Given the description of an element on the screen output the (x, y) to click on. 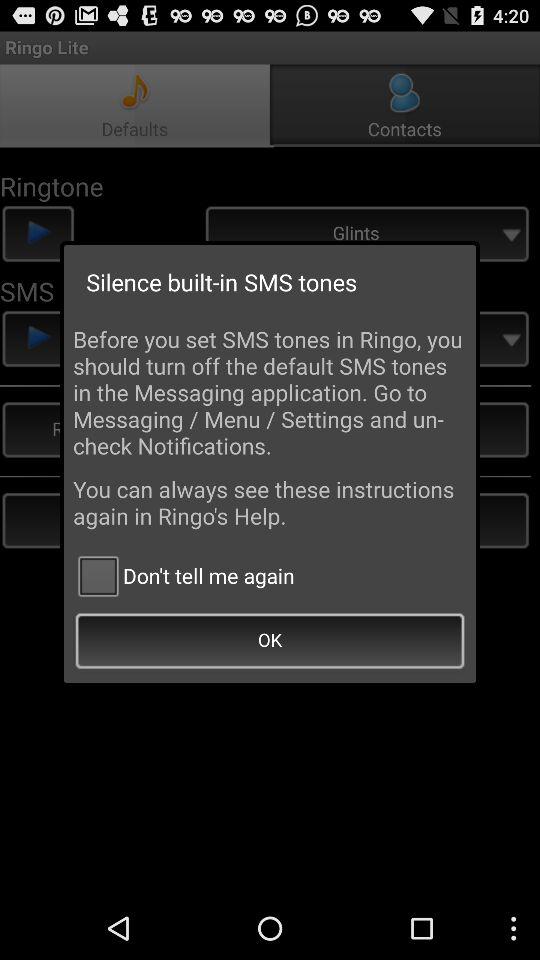
press ok icon (269, 641)
